Given the description of an element on the screen output the (x, y) to click on. 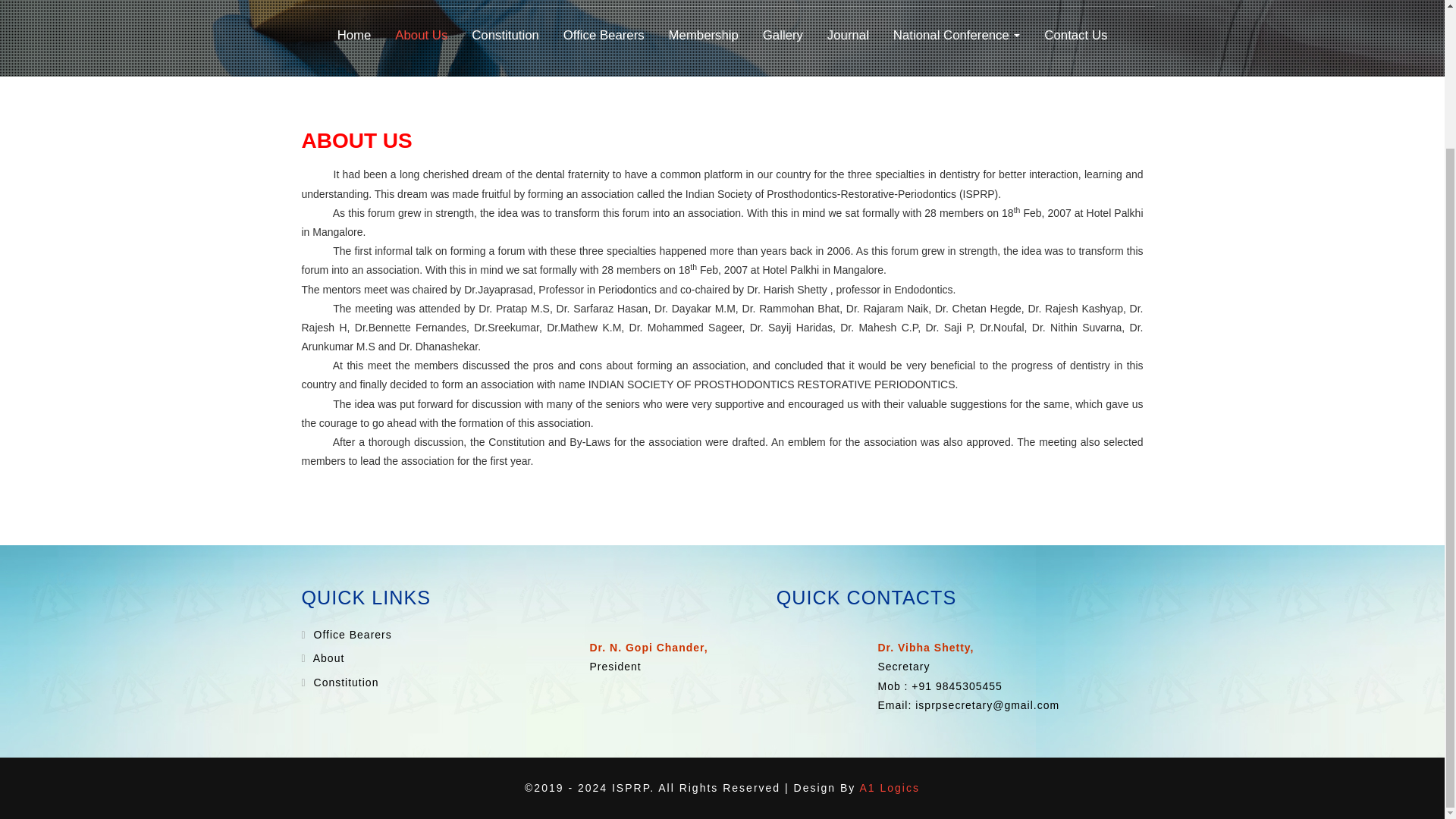
Contact Us (1074, 35)
National Conference (956, 35)
Gallery (782, 35)
Office Bearers (350, 634)
About (327, 657)
Constitution (344, 682)
About Us (420, 35)
Constitution (504, 35)
A1 Logics (888, 787)
Membership (703, 35)
Journal (848, 35)
Home (354, 35)
Office Bearers (604, 35)
